Given the description of an element on the screen output the (x, y) to click on. 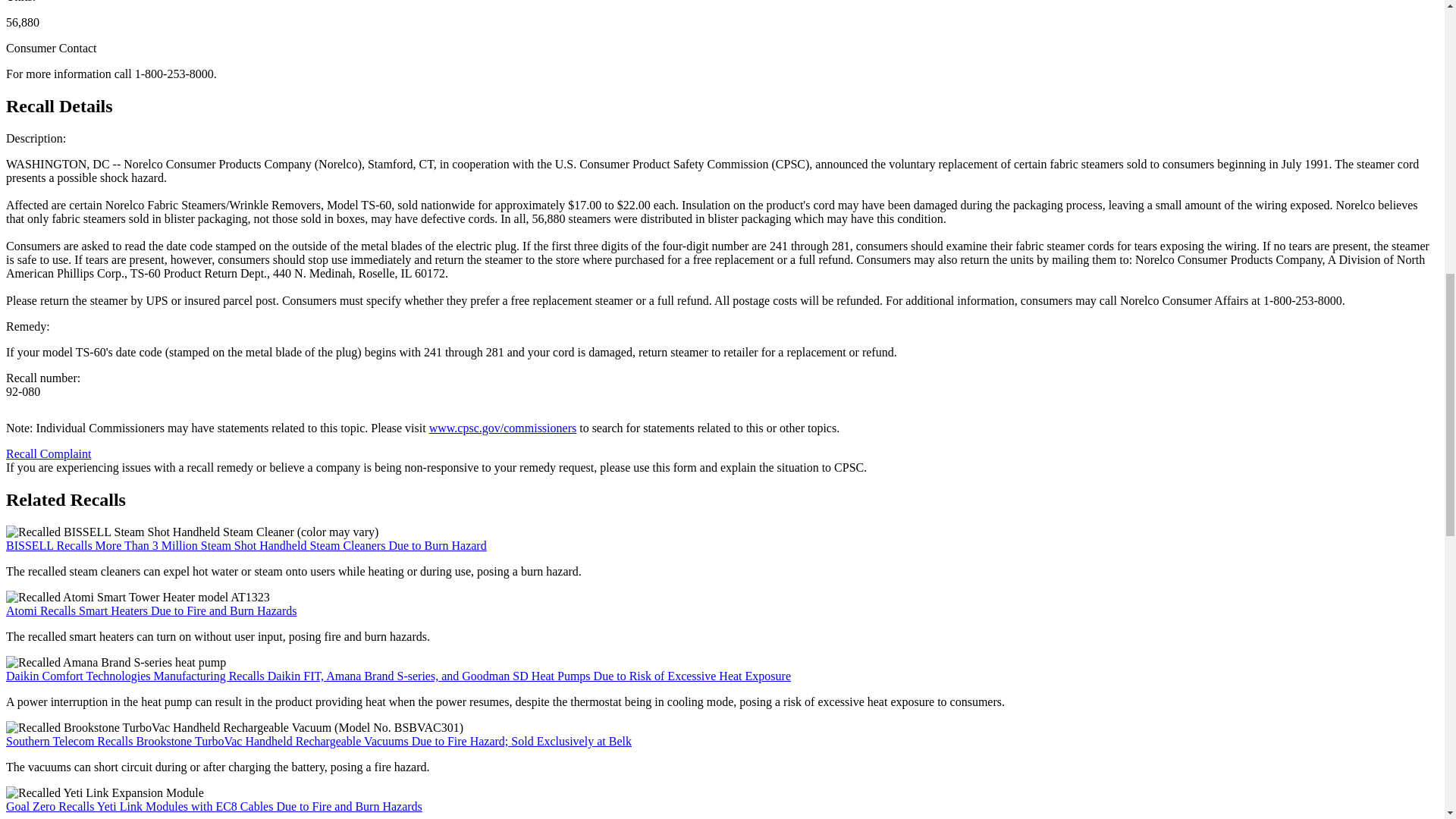
Report Recall Complaint (47, 453)
Recall Complaint (47, 453)
